Given the description of an element on the screen output the (x, y) to click on. 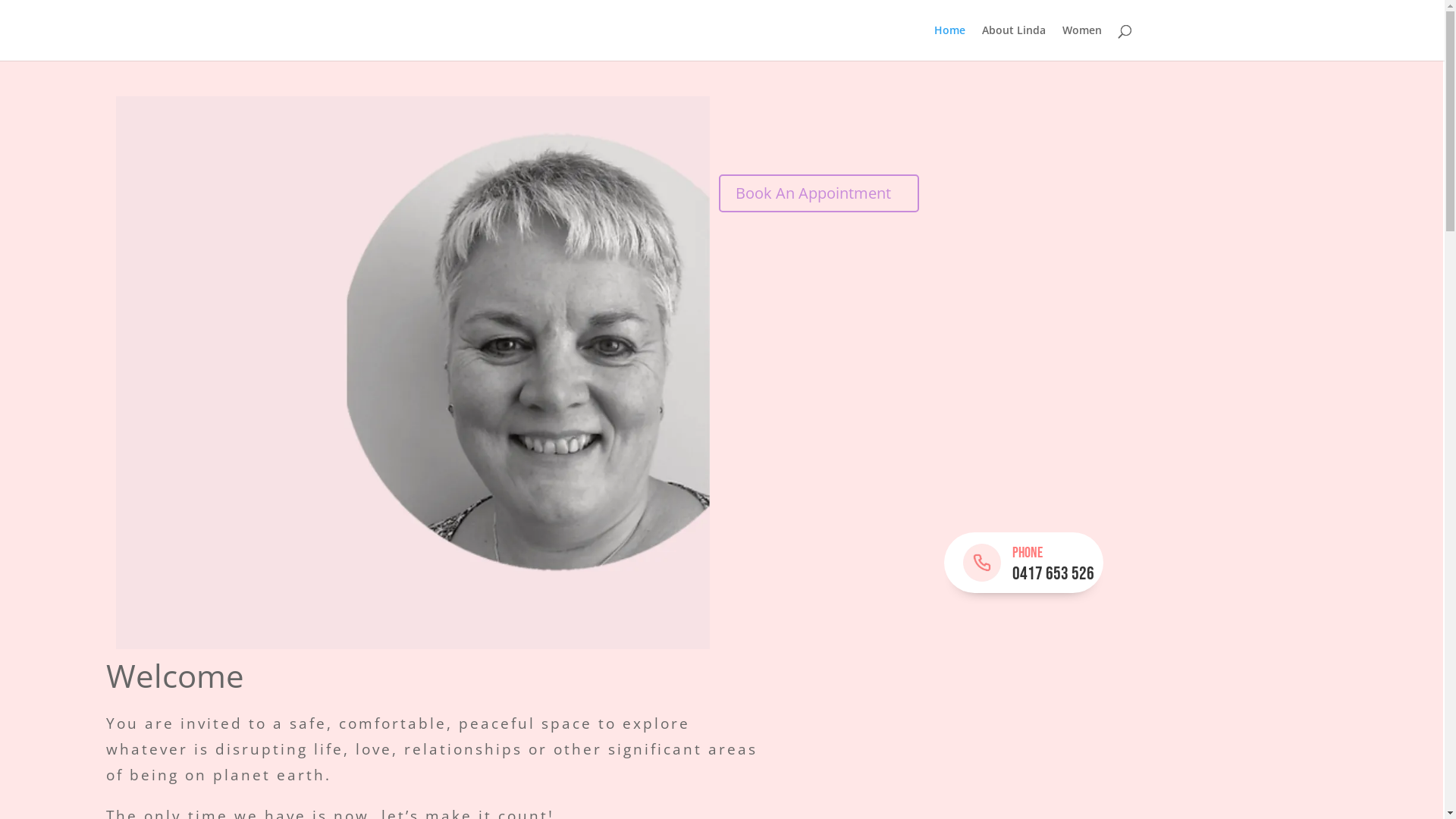
Book An Appointment Element type: text (818, 193)
Women Element type: text (1081, 42)
About Linda Element type: text (1012, 42)
Linda Flewker-Barker Element type: hover (412, 372)
Home Element type: text (949, 42)
